Given the description of an element on the screen output the (x, y) to click on. 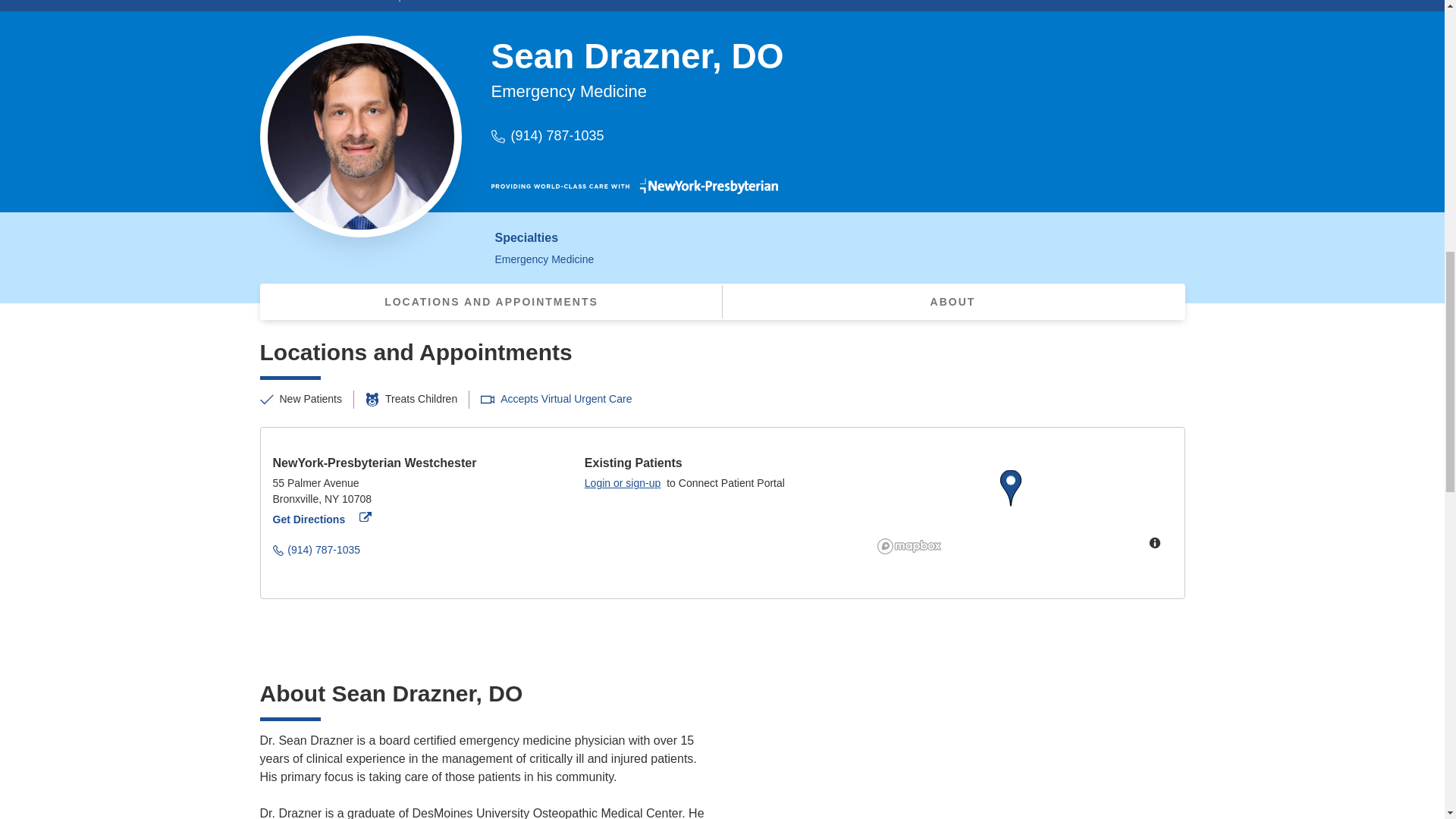
Accepts Virtual Urgent Care (565, 399)
LOCATIONS AND APPOINTMENTS (309, 520)
New York (623, 482)
Opens in a new tab (491, 301)
ABOUT (331, 499)
